Given the description of an element on the screen output the (x, y) to click on. 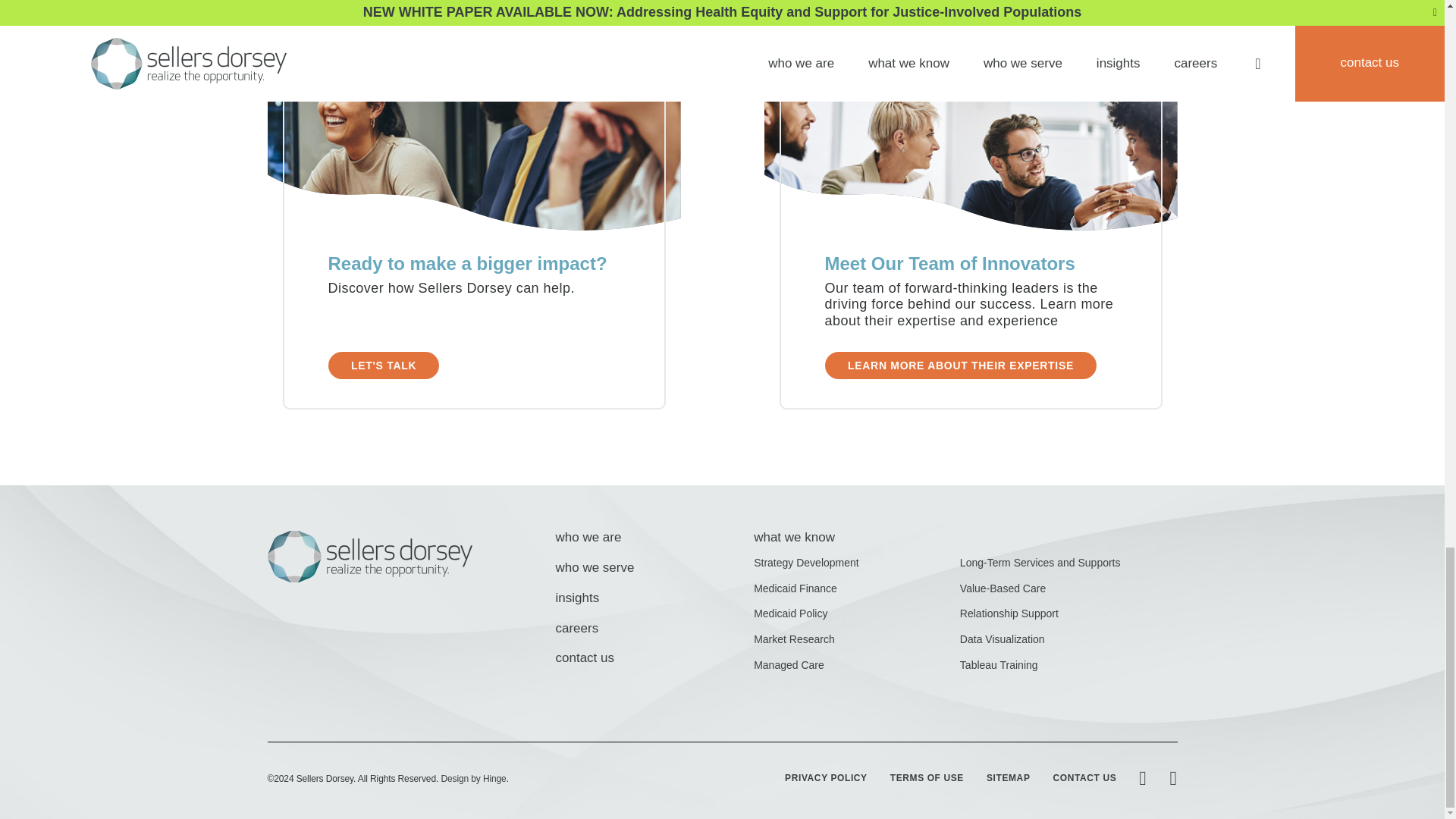
LET'S TALK (382, 365)
